Given the description of an element on the screen output the (x, y) to click on. 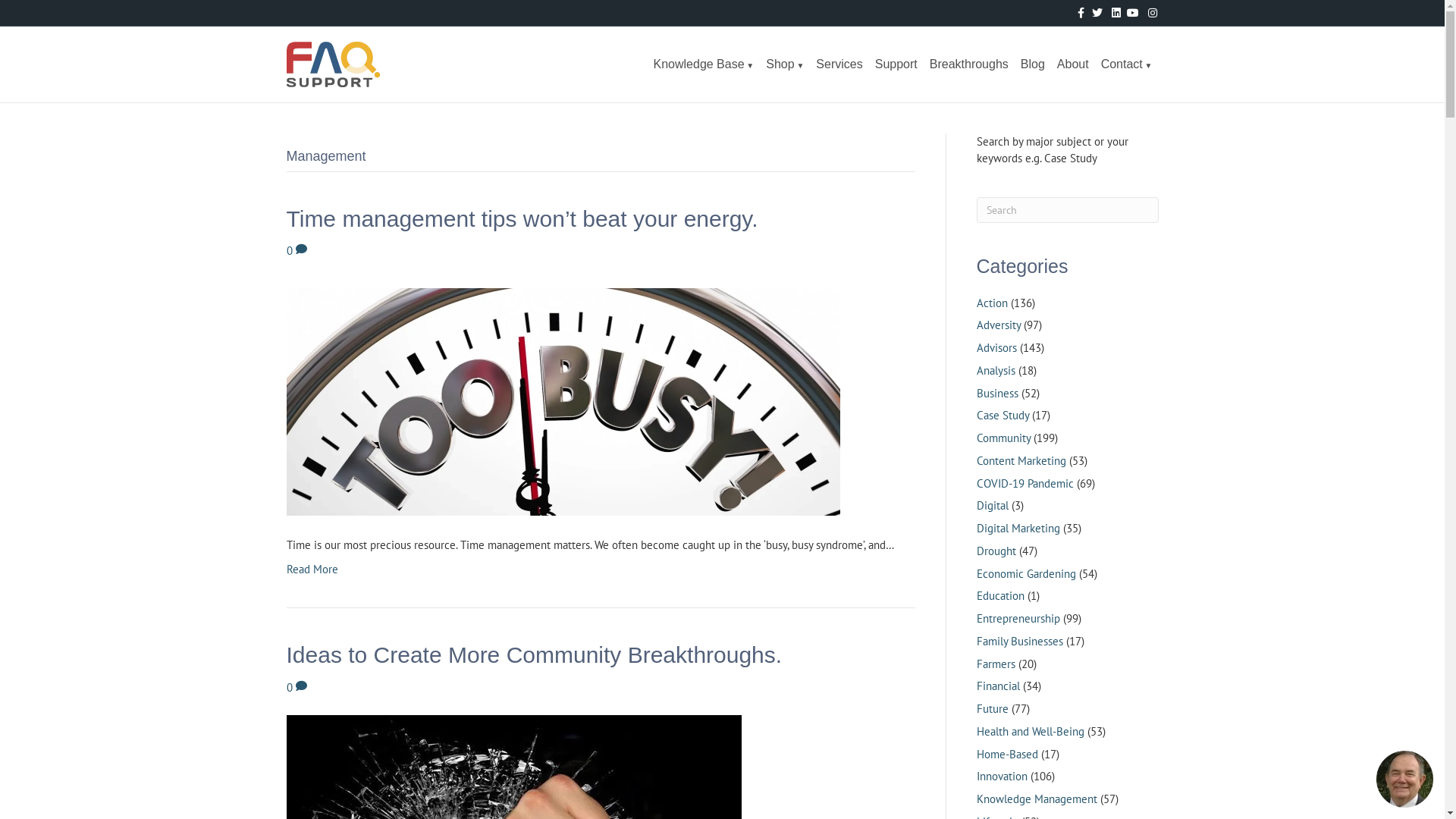
Education Element type: text (1000, 595)
About Element type: text (1073, 64)
Digital Element type: text (992, 505)
Blog Element type: text (1032, 64)
0 Element type: text (296, 687)
Health and Well-Being Element type: text (1030, 731)
Future Element type: text (992, 708)
Instagram Element type: text (1148, 11)
Read More Element type: text (312, 568)
Breakthroughs Element type: text (968, 64)
Twitter Element type: text (1093, 11)
Advisors Element type: text (996, 347)
Case Study Element type: text (1002, 414)
Support Element type: text (896, 64)
Analysis Element type: text (995, 370)
Community Element type: text (1003, 437)
Economic Gardening Element type: text (1026, 572)
Farmers Element type: text (995, 663)
Youtube Element type: text (1129, 11)
Digital Marketing Element type: text (1018, 527)
Knowledge Management Element type: text (1036, 798)
Knowledge Base Element type: text (703, 64)
Linkedin Element type: text (1111, 11)
Entrepreneurship Element type: text (1018, 618)
Facebook Element type: text (1075, 11)
Contact Element type: text (1126, 64)
Family Businesses Element type: text (1019, 640)
Services Element type: text (838, 64)
Innovation Element type: text (1001, 775)
Adversity Element type: text (998, 324)
Home-Based Element type: text (1007, 753)
Action Element type: text (991, 302)
Type and press Enter to search. Element type: hover (1067, 209)
Financial Element type: text (997, 685)
Ideas to Create More Community Breakthroughs. Element type: text (534, 654)
Drought Element type: text (996, 550)
Business Element type: text (997, 392)
Content Marketing Element type: text (1021, 460)
0 Element type: text (296, 250)
Shop Element type: text (784, 64)
COVID-19 Pandemic Element type: text (1024, 483)
